Given the description of an element on the screen output the (x, y) to click on. 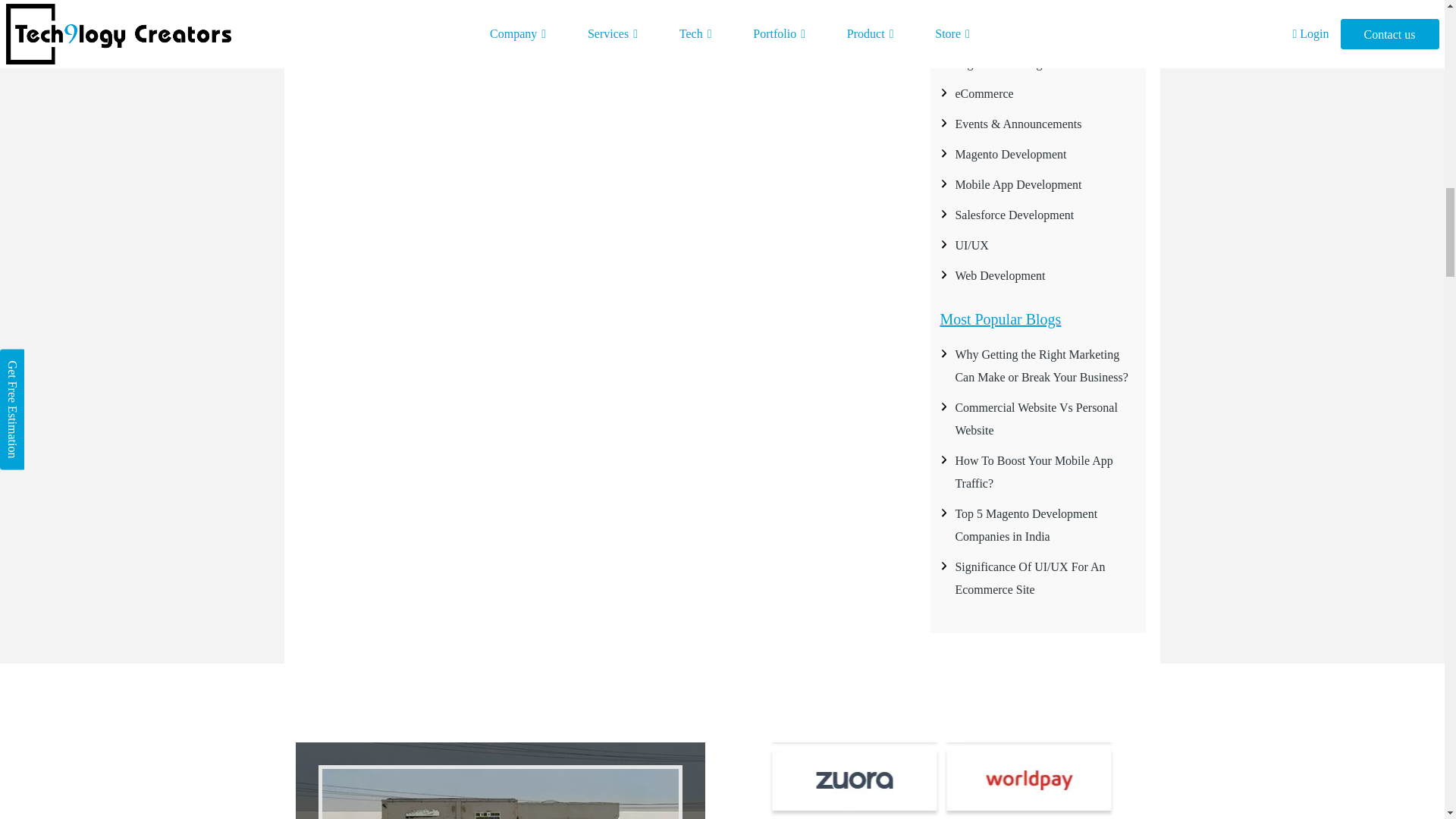
Top 5 Magento Development Companies in India (1026, 524)
How To Boost Your Mobile App Traffic? (1033, 471)
Commercial Website Vs Personal Website (1036, 418)
